Given the description of an element on the screen output the (x, y) to click on. 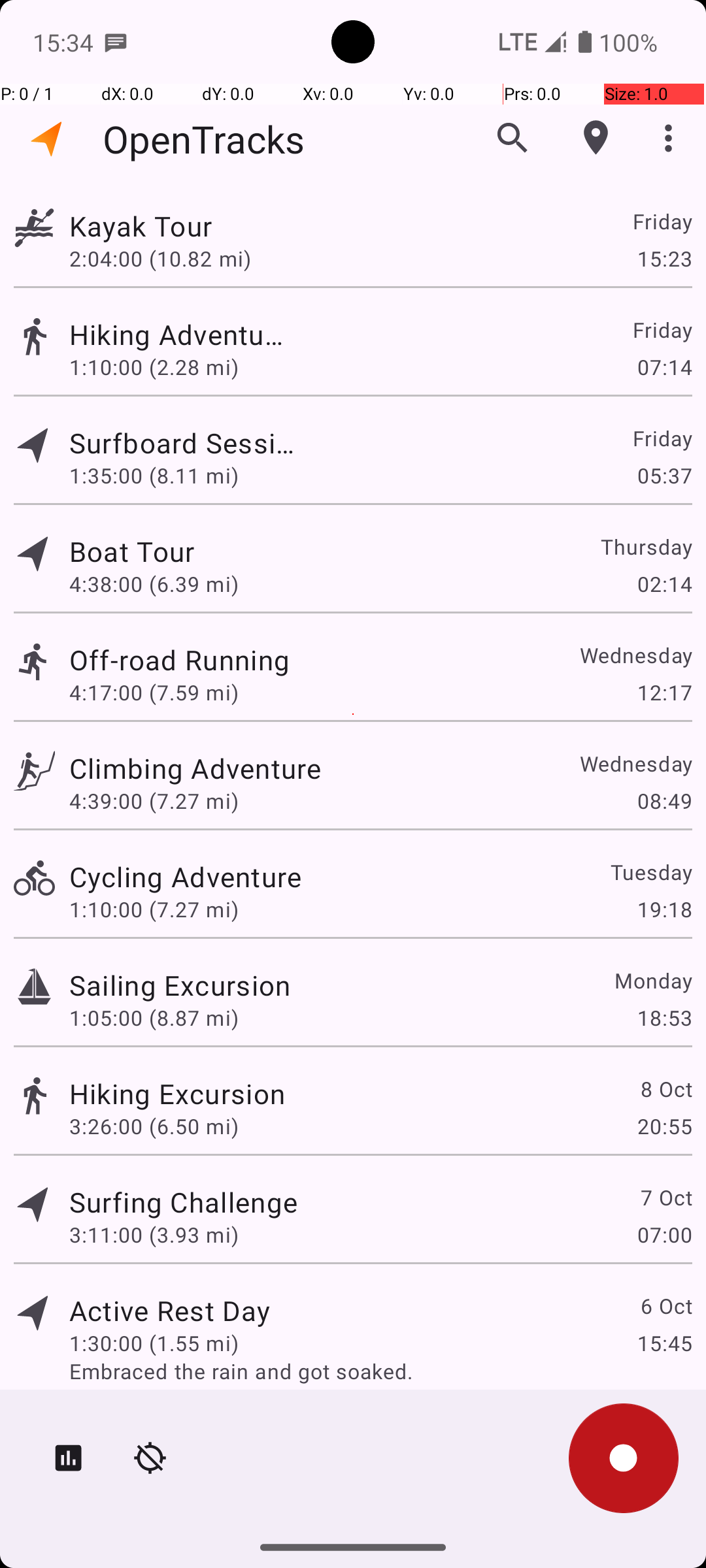
Kayak Tour Element type: android.widget.TextView (179, 225)
2:04:00 (10.82 mi) Element type: android.widget.TextView (159, 258)
15:23 Element type: android.widget.TextView (664, 258)
Hiking Adventure Element type: android.widget.TextView (176, 333)
1:10:00 (2.28 mi) Element type: android.widget.TextView (153, 366)
07:14 Element type: android.widget.TextView (664, 366)
Surfboard Session Element type: android.widget.TextView (183, 442)
1:35:00 (8.11 mi) Element type: android.widget.TextView (153, 475)
05:37 Element type: android.widget.TextView (664, 475)
Boat Tour Element type: android.widget.TextView (169, 550)
4:38:00 (6.39 mi) Element type: android.widget.TextView (153, 583)
02:14 Element type: android.widget.TextView (664, 583)
Off-road Running Element type: android.widget.TextView (309, 659)
4:17:00 (7.59 mi) Element type: android.widget.TextView (153, 692)
12:17 Element type: android.widget.TextView (664, 692)
Climbing Adventure Element type: android.widget.TextView (194, 767)
4:39:00 (7.27 mi) Element type: android.widget.TextView (153, 800)
08:49 Element type: android.widget.TextView (664, 800)
Cycling Adventure Element type: android.widget.TextView (185, 876)
1:10:00 (7.27 mi) Element type: android.widget.TextView (153, 909)
19:18 Element type: android.widget.TextView (664, 909)
Sailing Excursion Element type: android.widget.TextView (179, 984)
1:05:00 (8.87 mi) Element type: android.widget.TextView (153, 1017)
18:53 Element type: android.widget.TextView (664, 1017)
Hiking Excursion Element type: android.widget.TextView (176, 1092)
3:26:00 (6.50 mi) Element type: android.widget.TextView (153, 1125)
20:55 Element type: android.widget.TextView (664, 1125)
Surfing Challenge Element type: android.widget.TextView (183, 1201)
3:11:00 (3.93 mi) Element type: android.widget.TextView (153, 1234)
Active Rest Day Element type: android.widget.TextView (169, 1309)
6 Oct Element type: android.widget.TextView (665, 1305)
1:30:00 (1.55 mi) Element type: android.widget.TextView (153, 1342)
15:45 Element type: android.widget.TextView (664, 1342)
Embraced the rain and got soaked. Element type: android.widget.TextView (380, 1370)
